Given the description of an element on the screen output the (x, y) to click on. 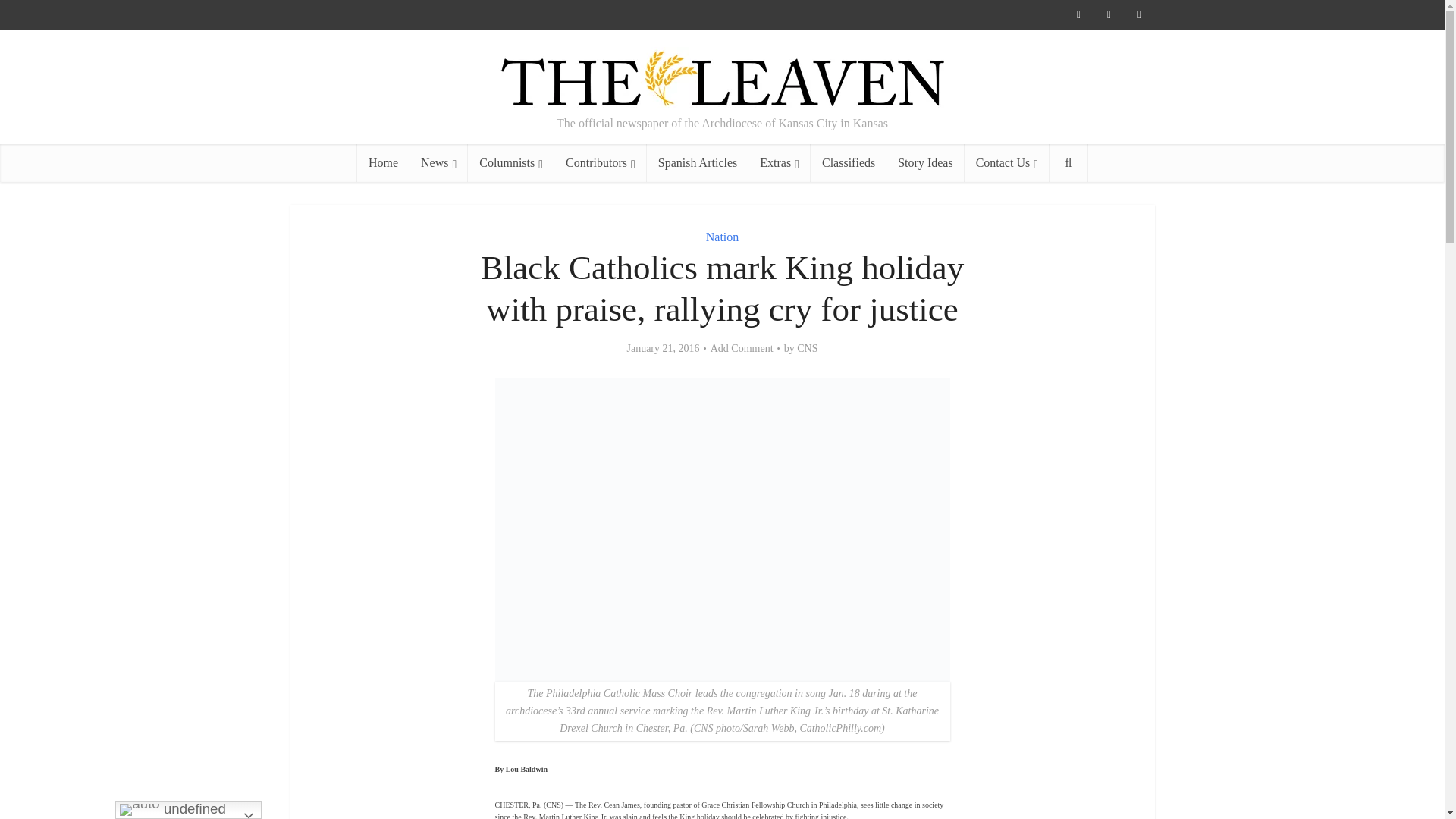
Home (382, 162)
News (438, 162)
Spanish Articles (697, 162)
Contributors (600, 162)
Columnists (510, 162)
None (438, 162)
Classifieds (848, 162)
Extras (779, 162)
